Given the description of an element on the screen output the (x, y) to click on. 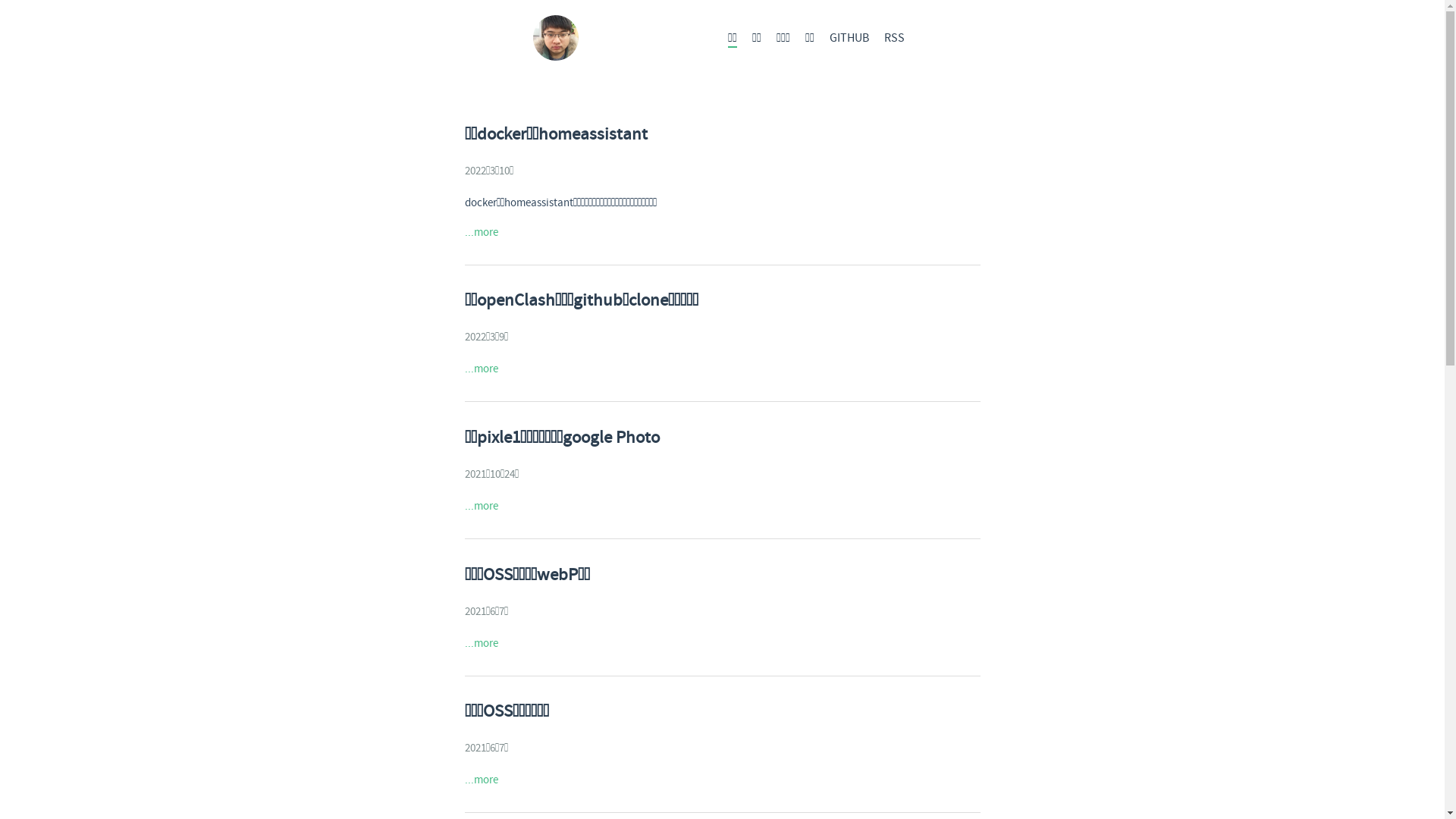
RSS Element type: text (894, 38)
...more Element type: text (480, 779)
...more Element type: text (480, 368)
...more Element type: text (480, 642)
...more Element type: text (480, 232)
GITHUB Element type: text (849, 38)
...more Element type: text (480, 506)
